Given the description of an element on the screen output the (x, y) to click on. 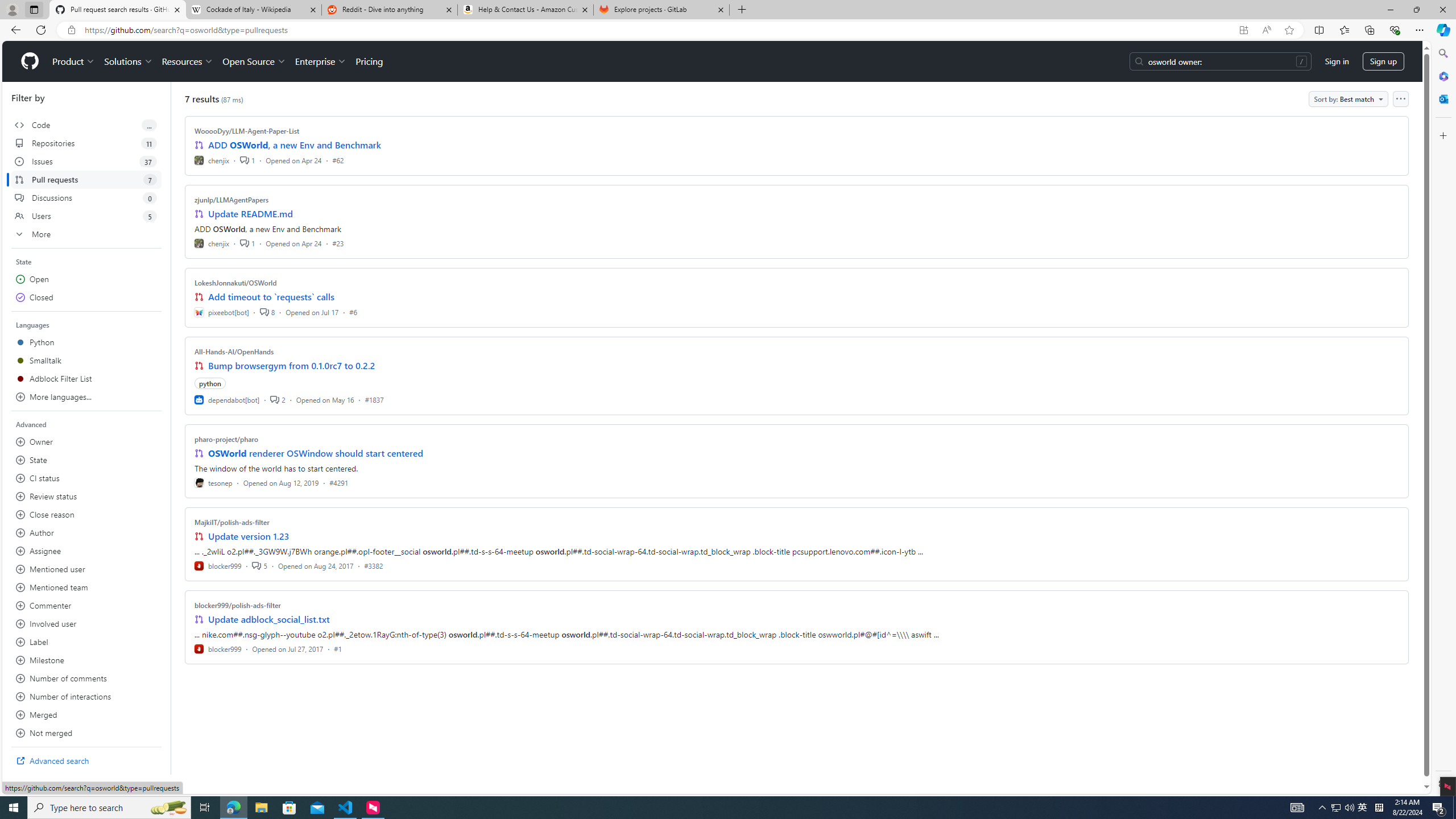
chenjix (211, 242)
Open Source (254, 60)
Update adblock_social_list.txt (269, 619)
#3382 (373, 565)
Open Source (254, 60)
Update README.md (250, 213)
More languages... (86, 397)
